Given the description of an element on the screen output the (x, y) to click on. 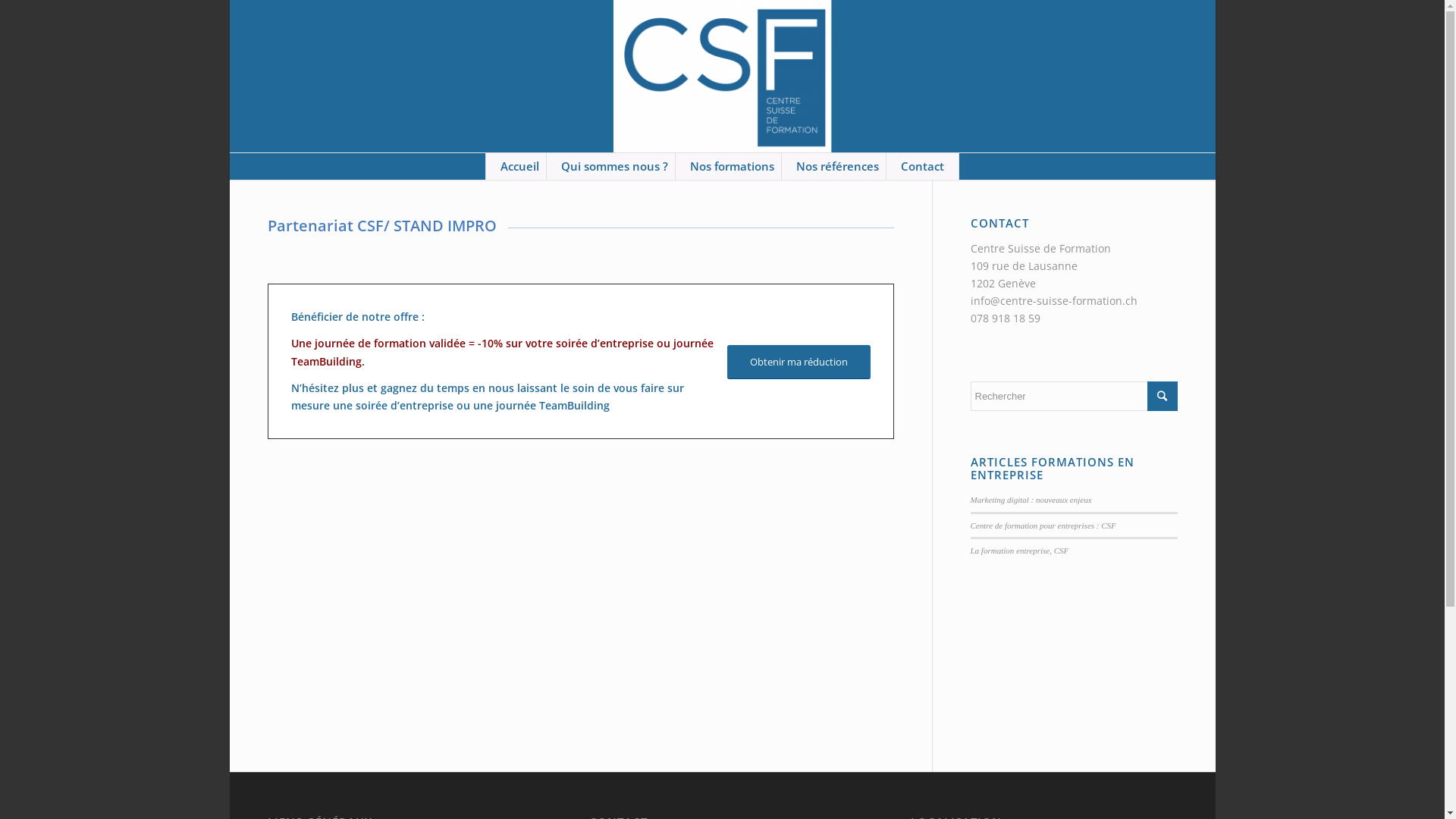
Contact Element type: text (922, 166)
La formation entreprise, CSF Element type: text (1019, 550)
Nos formations Element type: text (731, 166)
Qui sommes nous ? Element type: text (614, 166)
Marketing digital : nouveaux enjeux Element type: text (1031, 499)
Centre de formation pour entreprises : CSF Element type: text (1043, 525)
Accueil Element type: text (519, 166)
